Given the description of an element on the screen output the (x, y) to click on. 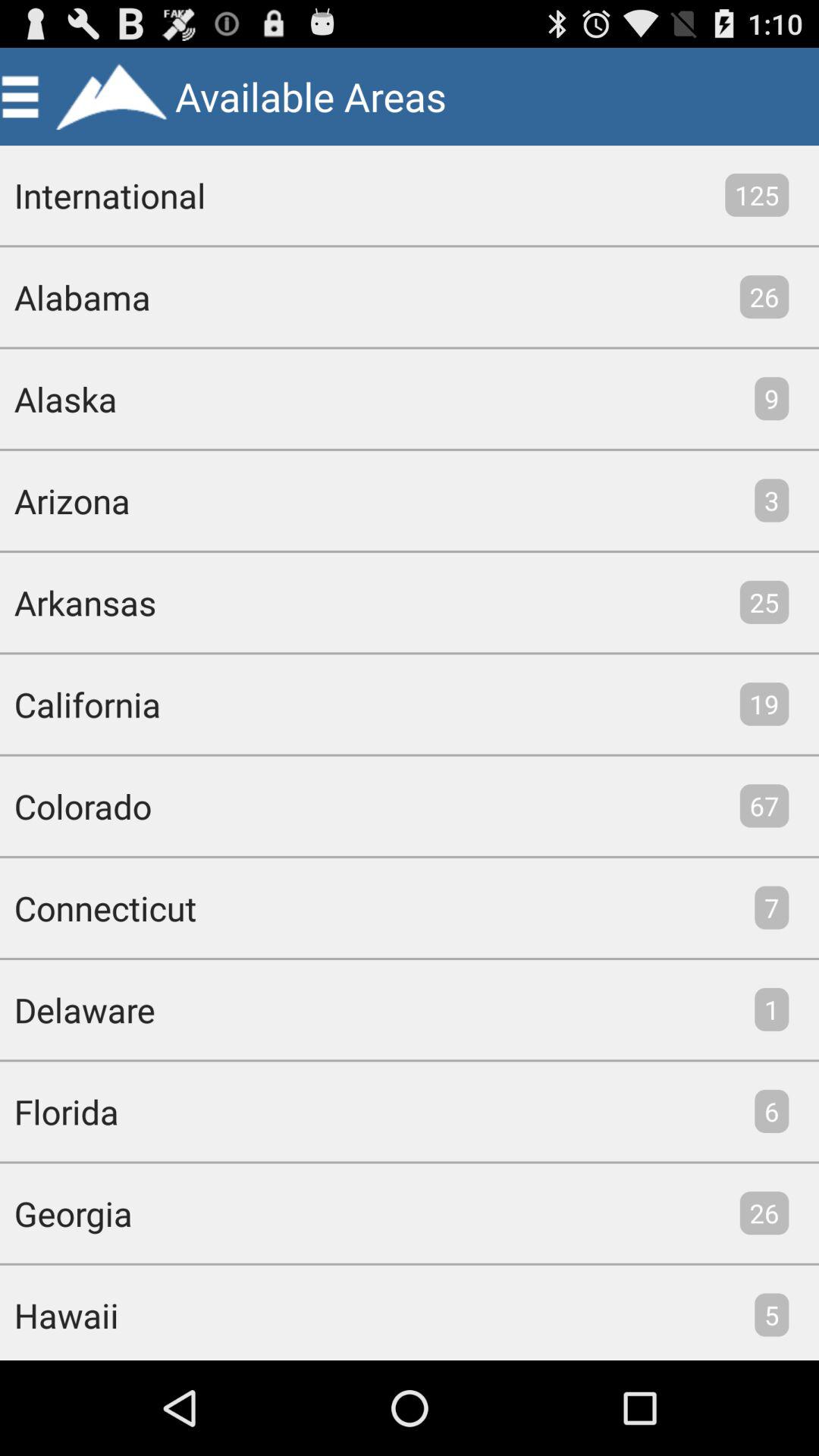
select the 9 icon (771, 398)
